Given the description of an element on the screen output the (x, y) to click on. 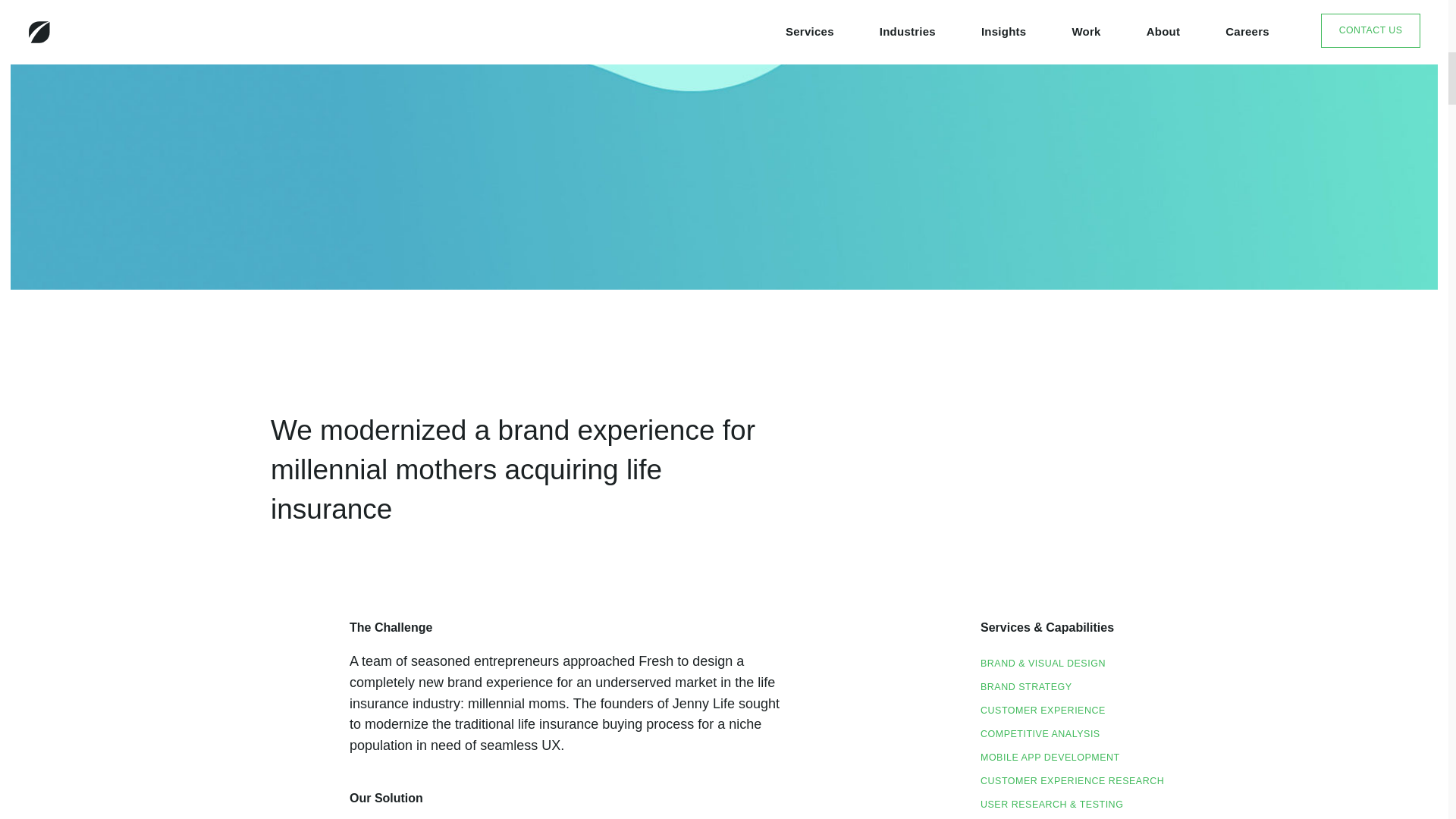
Customer Experience Research (1071, 783)
Brand Strategy (1025, 688)
Mobile App Development (1049, 759)
Competitive Analysis (1039, 735)
Customer Experience (1042, 712)
